Given the description of an element on the screen output the (x, y) to click on. 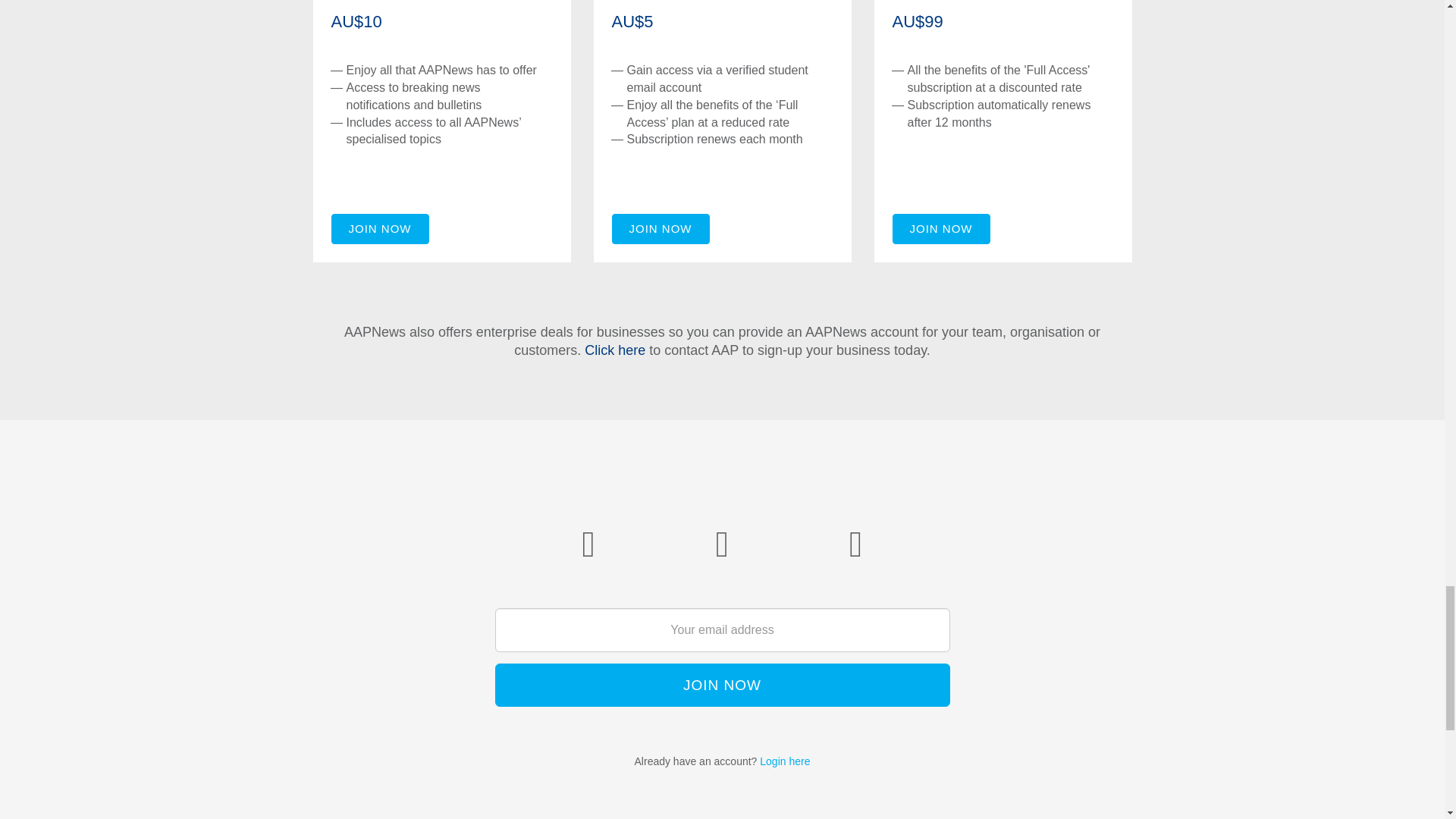
JOIN NOW (722, 684)
JOIN NOW (940, 228)
Login here (784, 761)
JOIN NOW (660, 228)
Click here (615, 350)
JOIN NOW (379, 228)
